Given the description of an element on the screen output the (x, y) to click on. 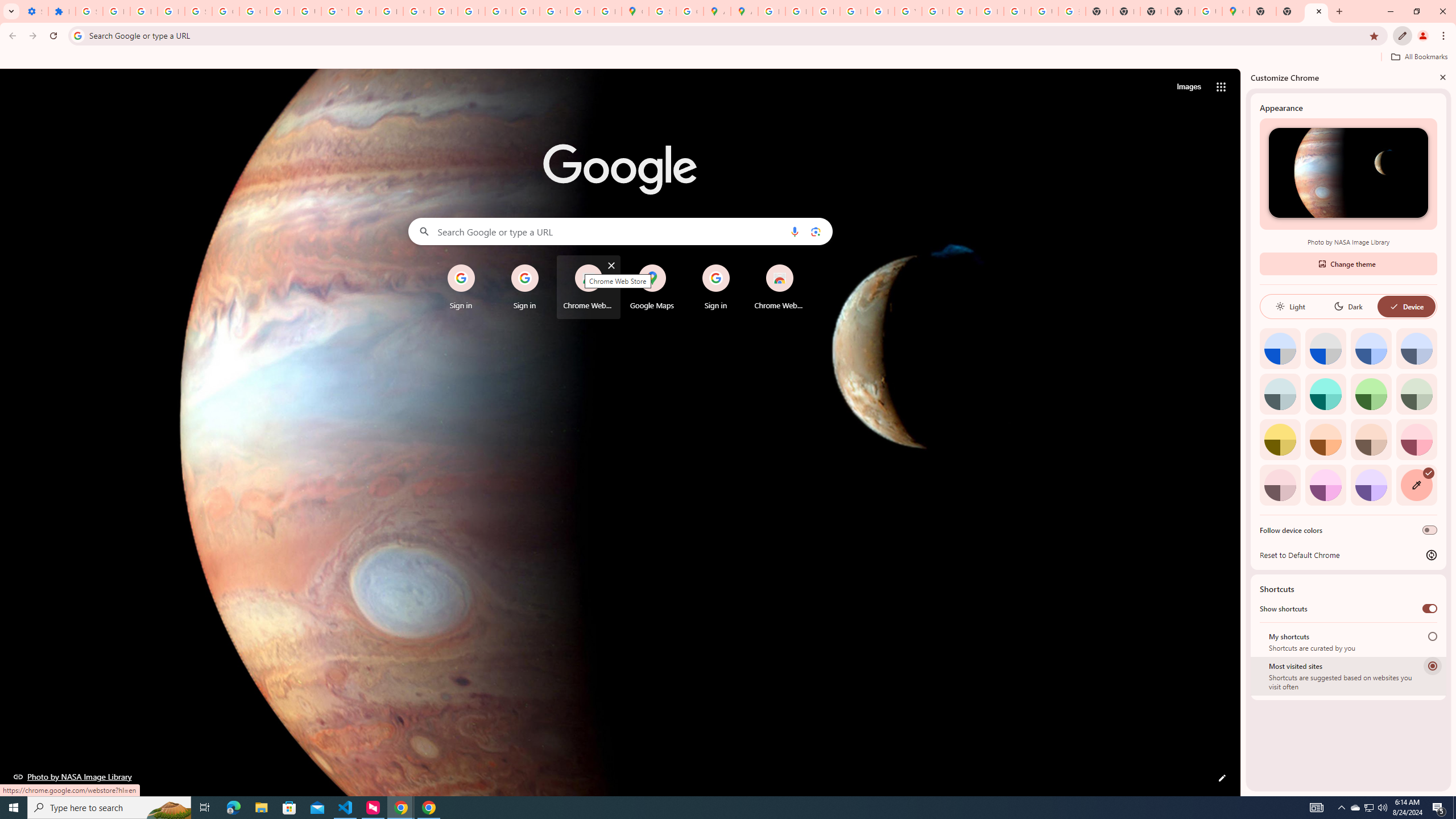
Fuchsia (1325, 484)
Privacy Help Center - Policies Help (799, 11)
Pink (1279, 484)
Google Maps (1236, 11)
New Tab (1316, 11)
Violet (1371, 484)
Reset to Default Chrome (1347, 554)
Apricot (1371, 439)
Remove (801, 265)
Follow device colors (1429, 529)
